Given the description of an element on the screen output the (x, y) to click on. 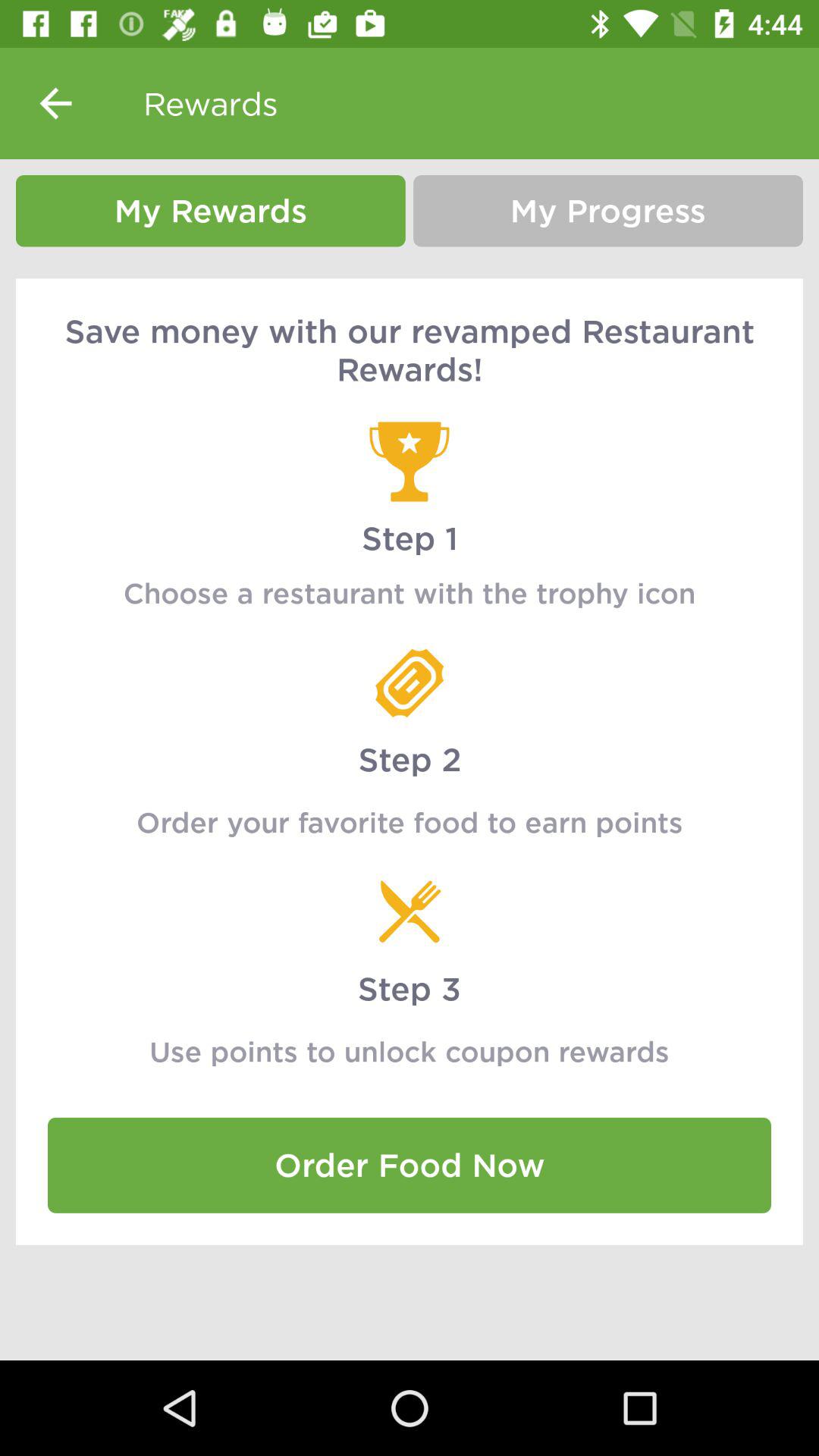
press icon above the save money with (210, 210)
